Given the description of an element on the screen output the (x, y) to click on. 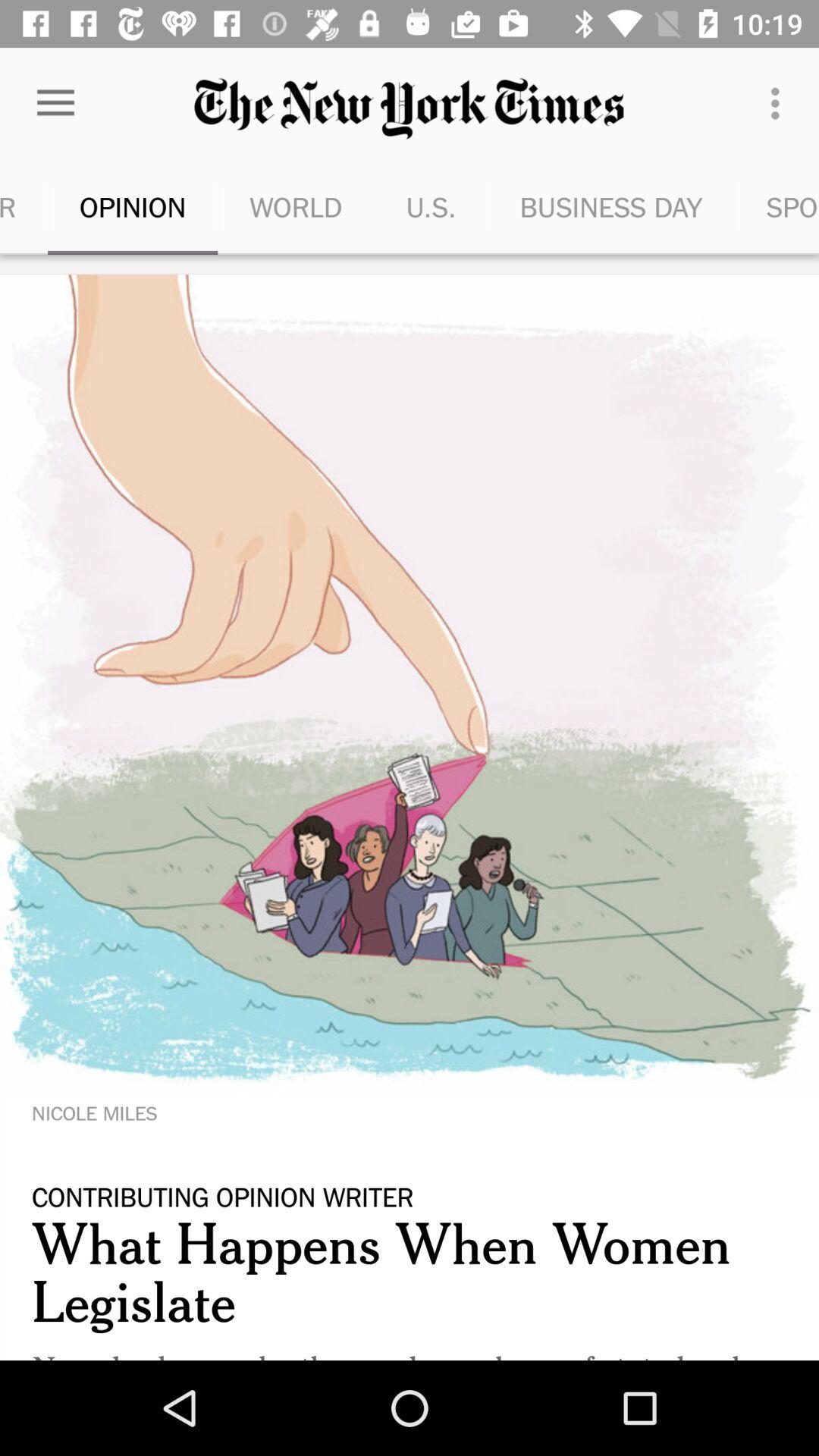
click item next to business day (779, 103)
